Given the description of an element on the screen output the (x, y) to click on. 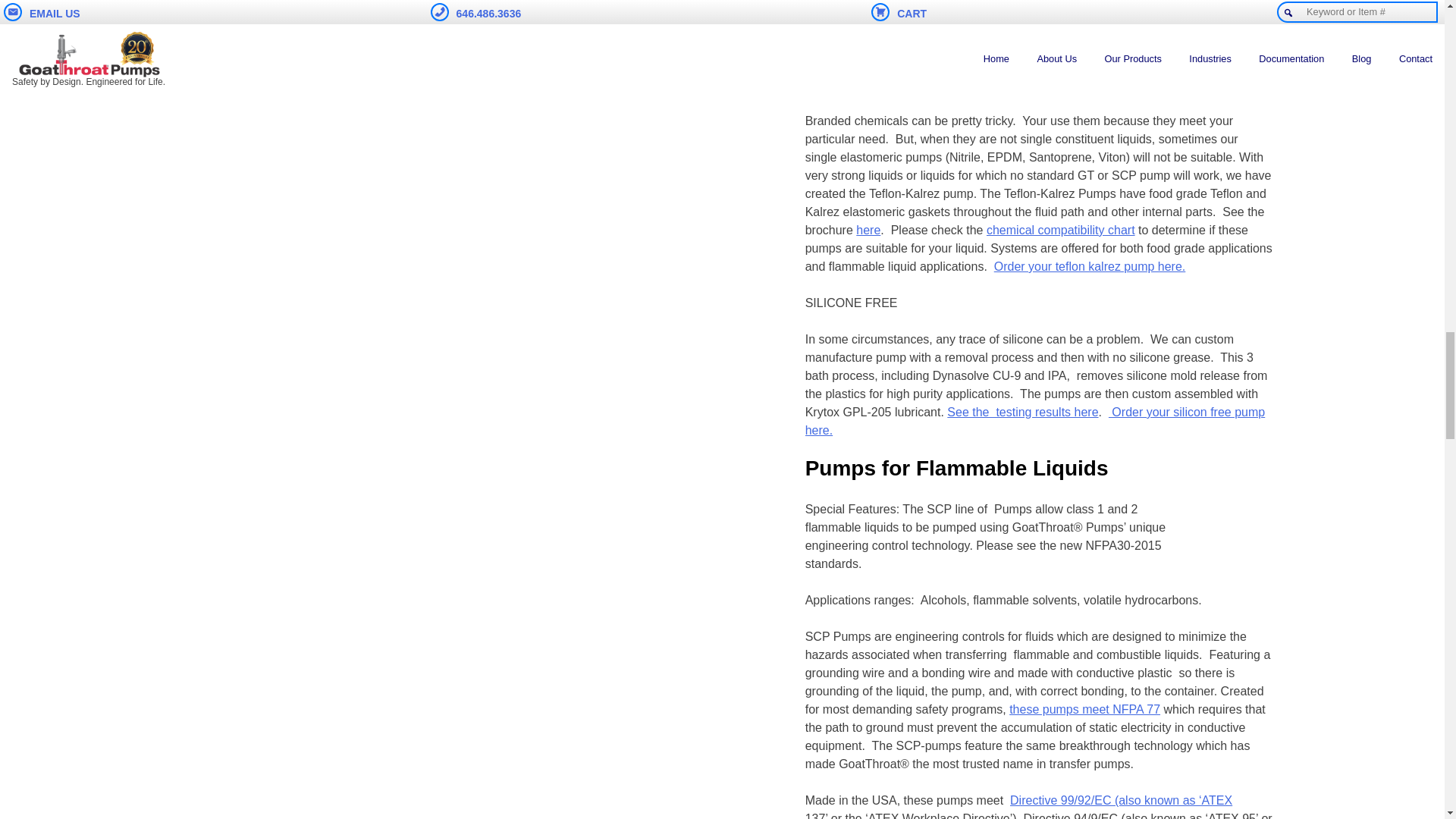
GT Safety Pumps (1084, 708)
